Given the description of an element on the screen output the (x, y) to click on. 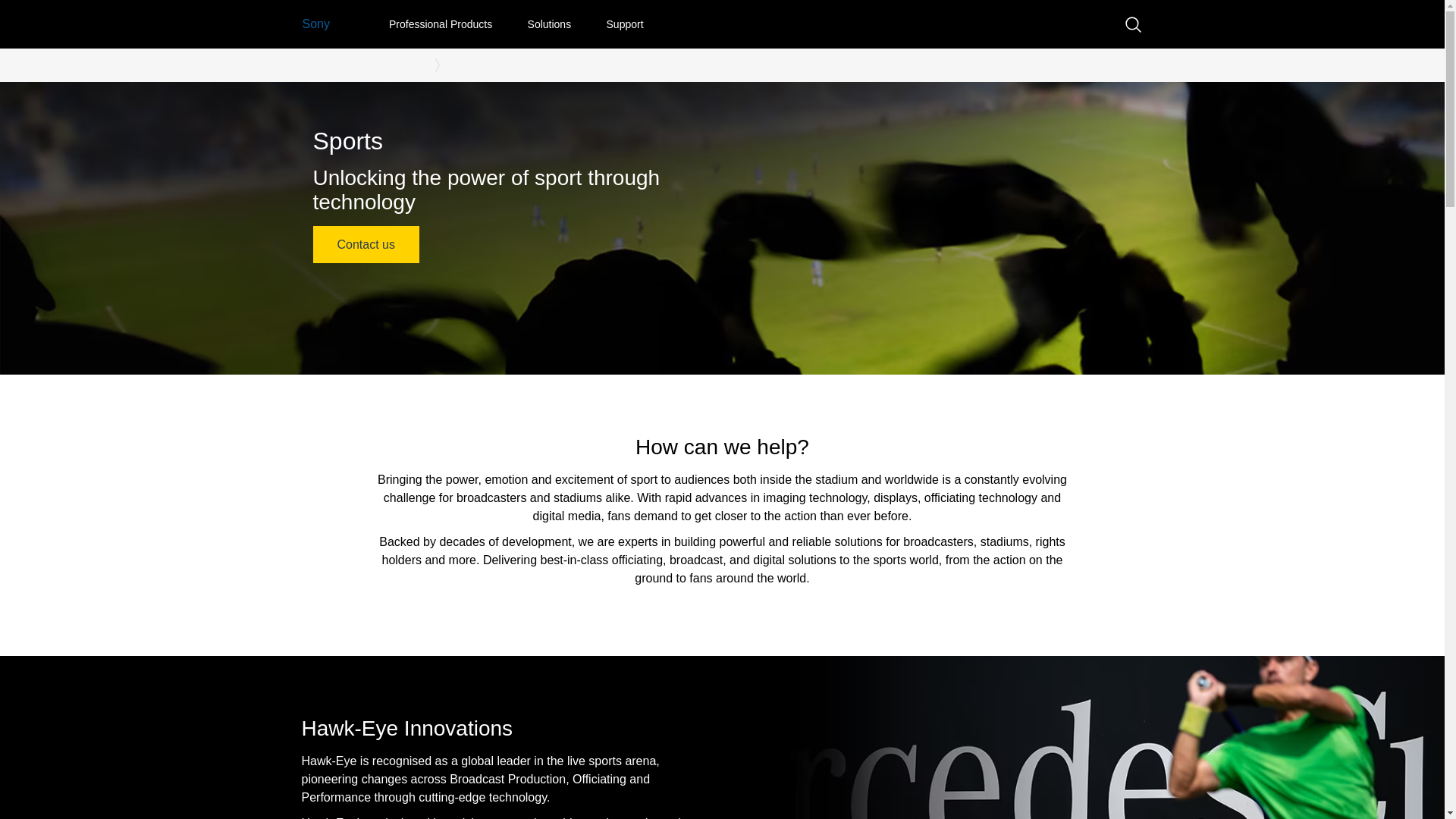
Sony (315, 24)
Solutions (549, 26)
Contact us (366, 244)
Professional Products (440, 26)
